Given the description of an element on the screen output the (x, y) to click on. 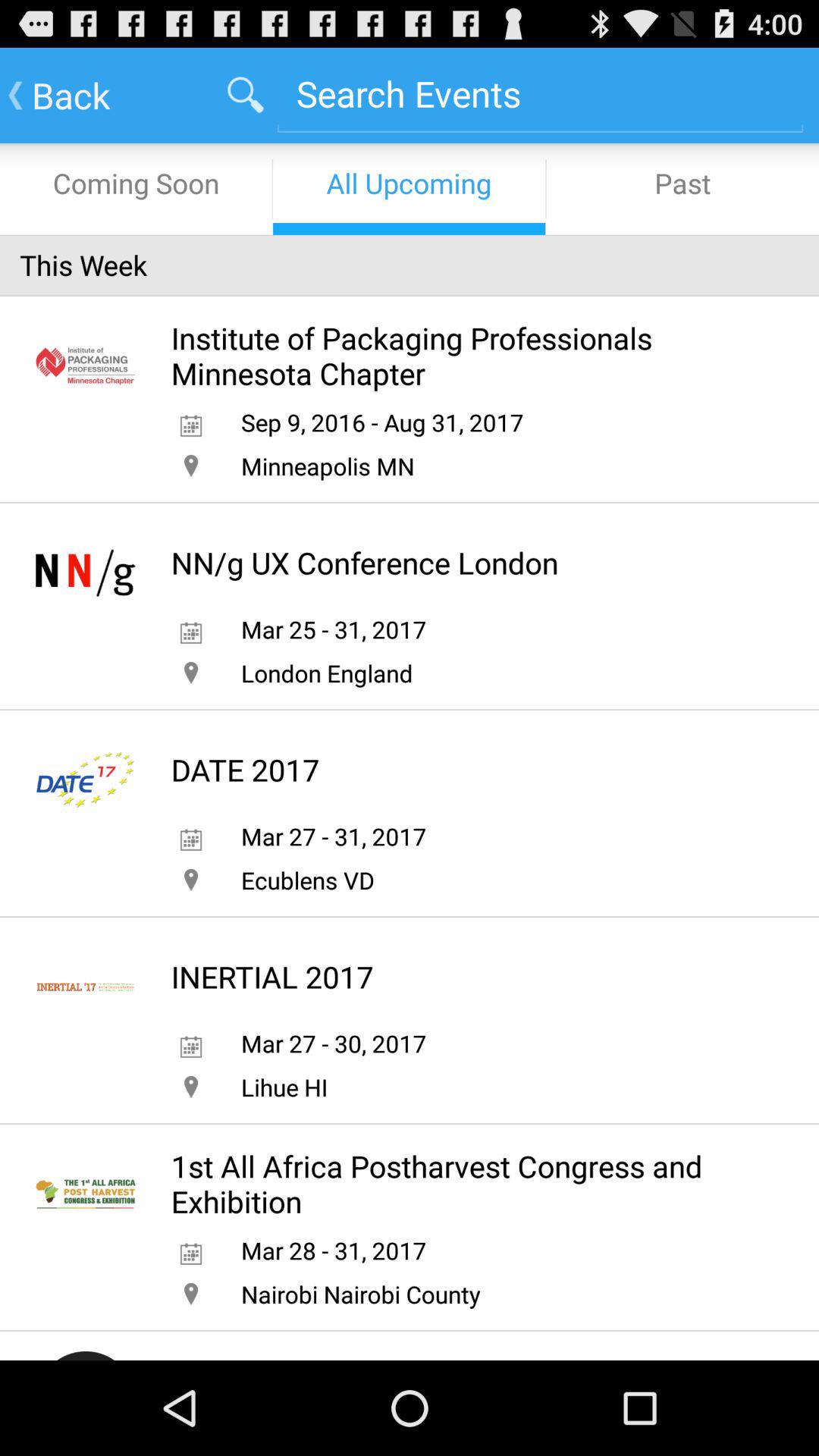
click app below the this week icon (463, 355)
